Given the description of an element on the screen output the (x, y) to click on. 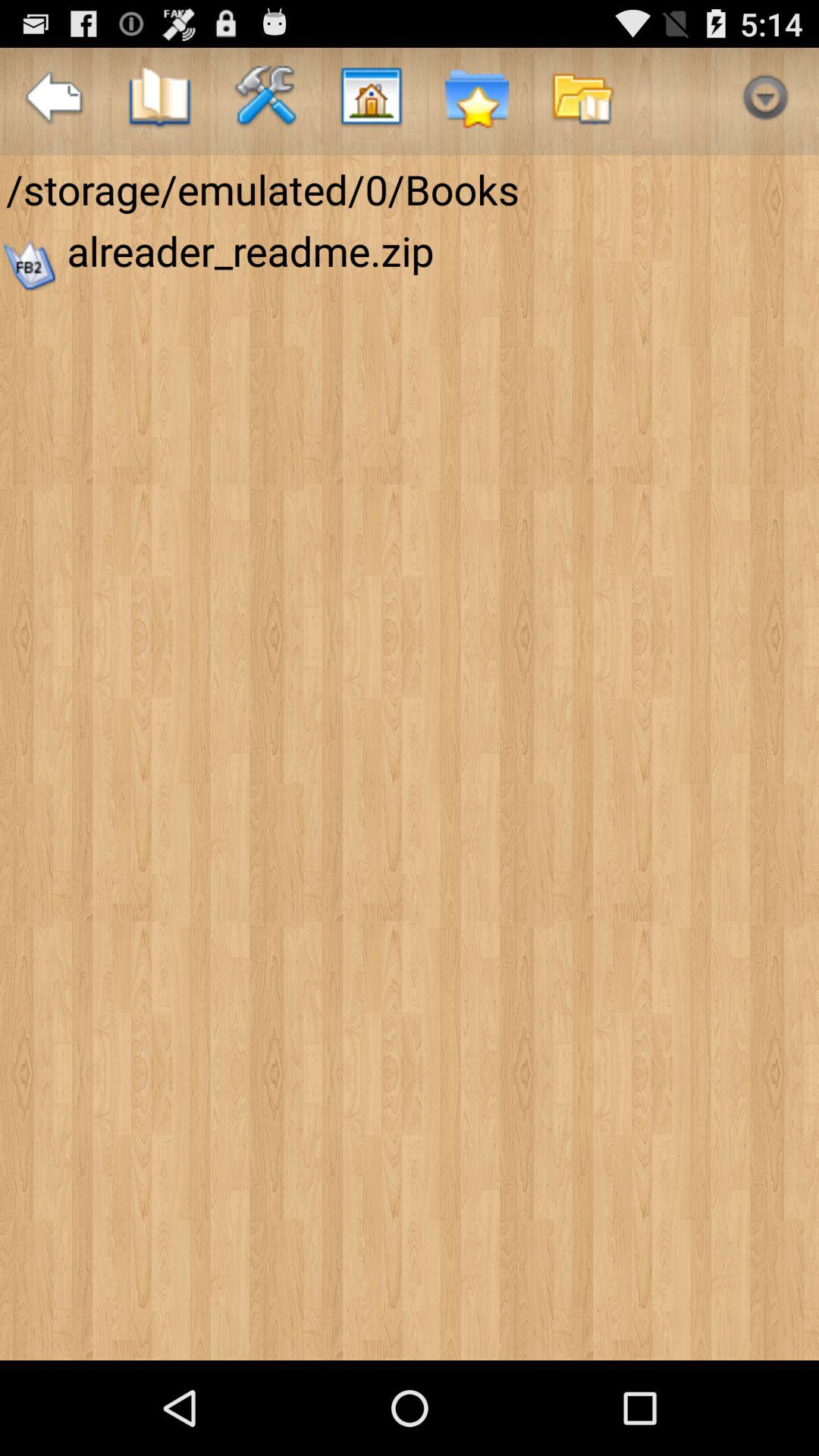
choose icon above storage emulated 0 (159, 101)
